Given the description of an element on the screen output the (x, y) to click on. 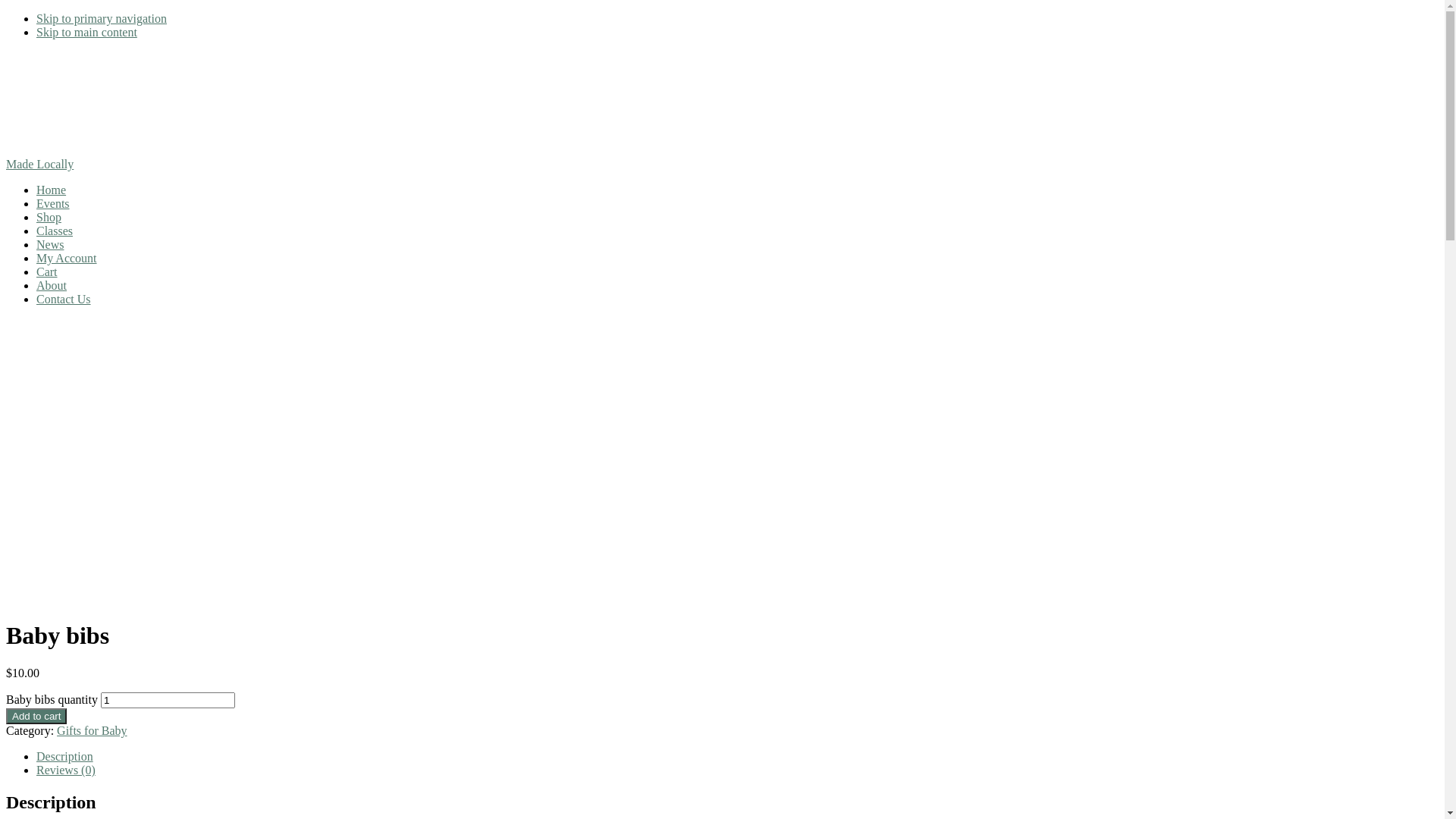
Home Element type: text (50, 189)
My Account Element type: text (66, 257)
Skip to main content Element type: text (86, 31)
Reviews (0) Element type: text (65, 769)
Add to cart Element type: text (36, 716)
Cart Element type: text (46, 271)
Description Element type: text (64, 755)
Classes Element type: text (54, 230)
Events Element type: text (52, 203)
Skip to primary navigation Element type: text (101, 18)
Made Locally Element type: text (39, 163)
Contact Us Element type: text (63, 298)
News Element type: text (49, 244)
Shop Element type: text (48, 216)
Gifts for Baby Element type: text (91, 730)
About Element type: text (51, 285)
